Given the description of an element on the screen output the (x, y) to click on. 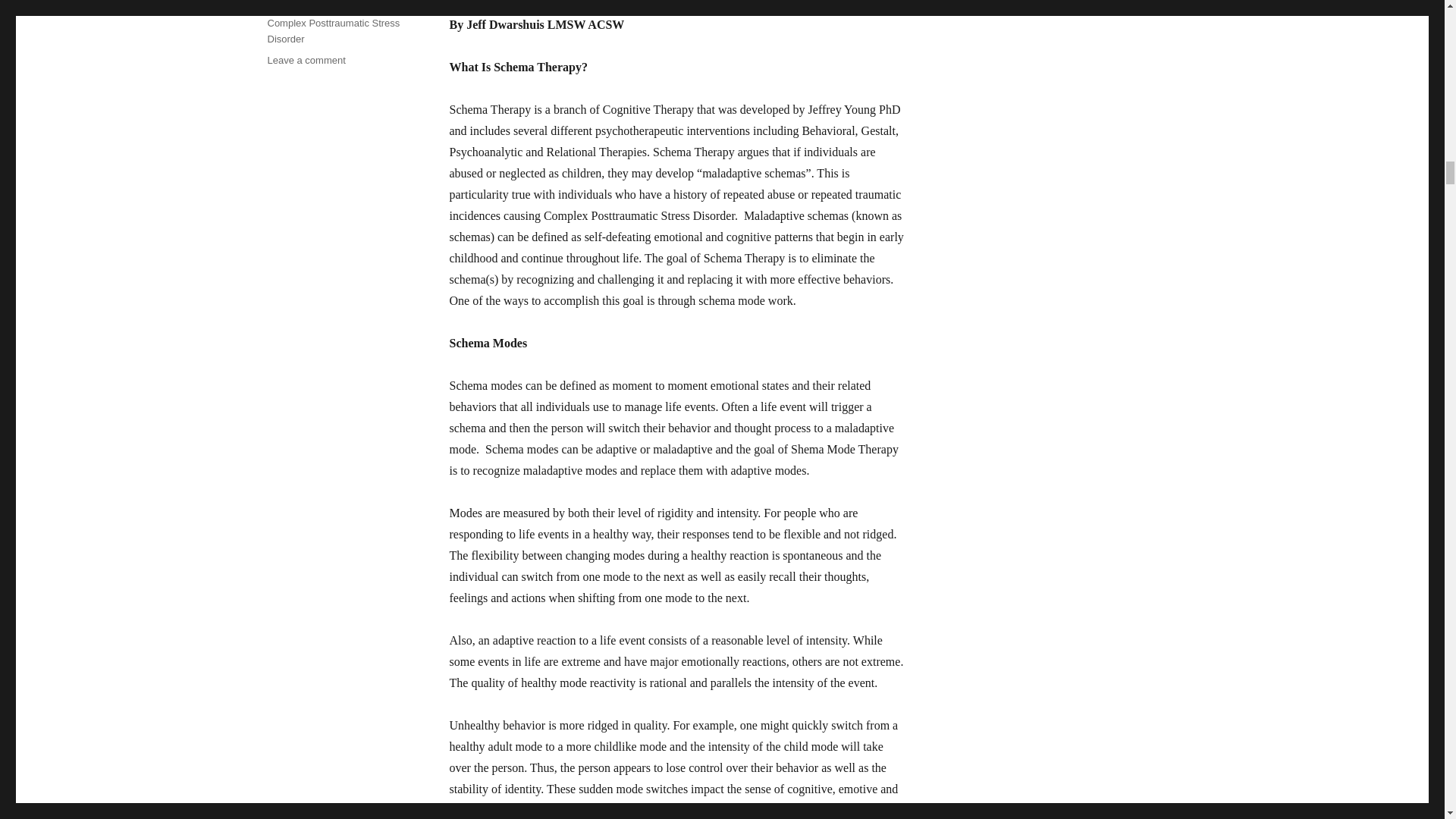
Complex Posttraumatic Stress Disorder (332, 31)
June 7, 2020 (294, 3)
